Given the description of an element on the screen output the (x, y) to click on. 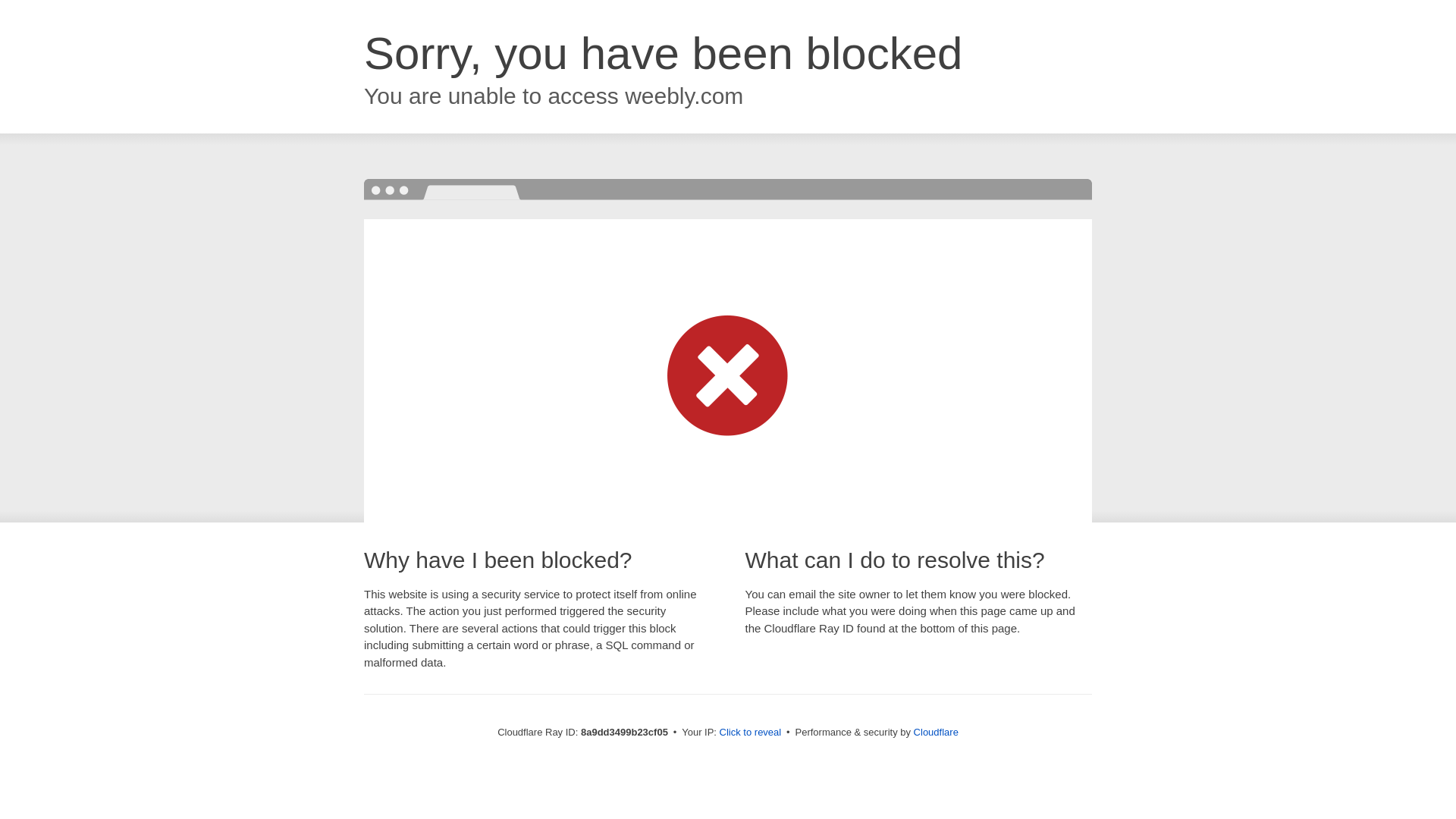
Cloudflare (936, 731)
Click to reveal (750, 732)
